Given the description of an element on the screen output the (x, y) to click on. 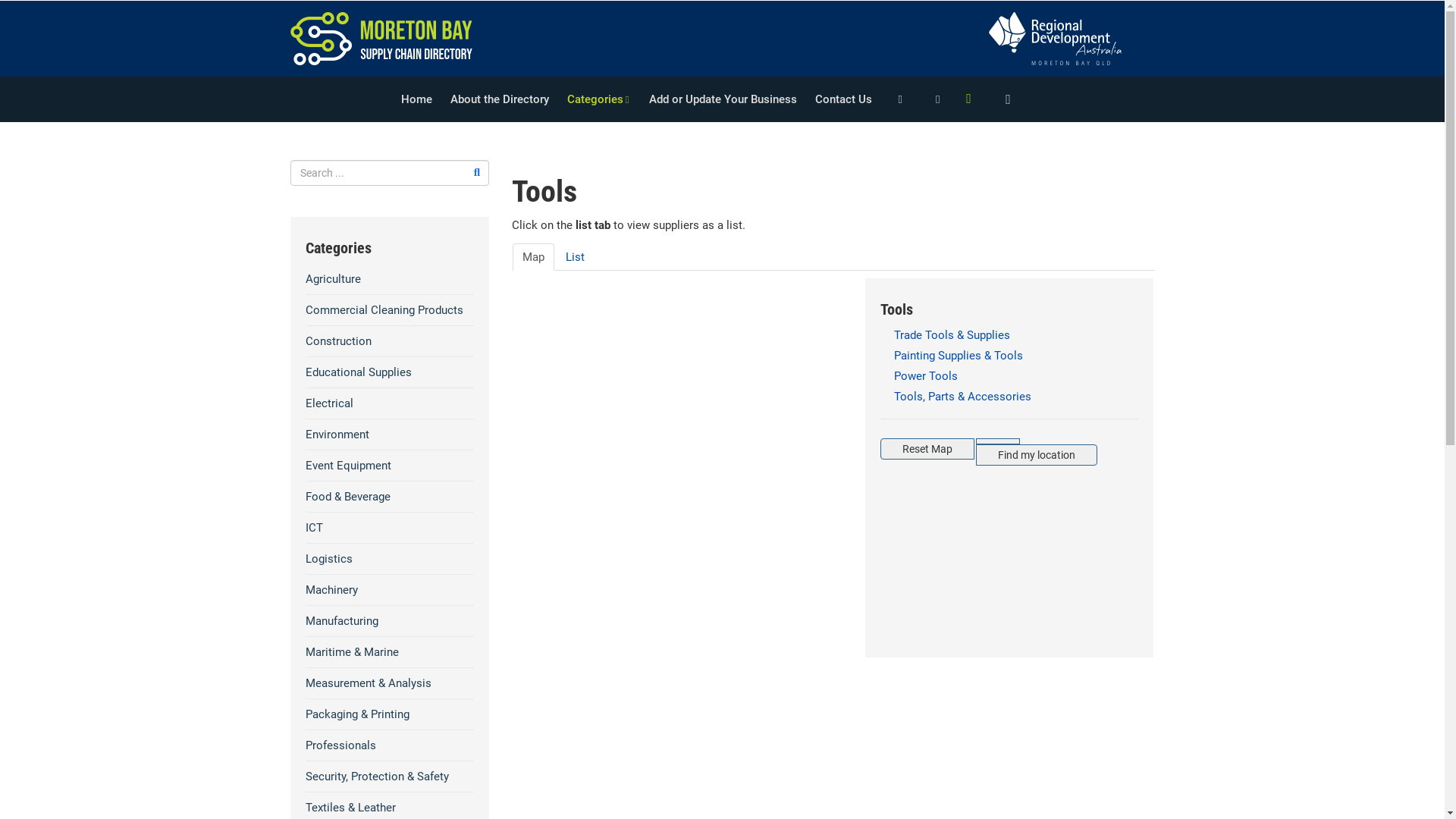
Commercial Cleaning Products Element type: text (388, 309)
Food & Beverage Element type: text (388, 496)
Machinery Element type: text (388, 589)
Packaging & Printing Element type: text (388, 714)
Educational Supplies Element type: text (388, 372)
Find my location Element type: text (1036, 454)
Menu Element type: hover (968, 98)
Construction Element type: text (388, 341)
Event Equipment Element type: text (388, 465)
Logistics Element type: text (388, 558)
Contact Us Element type: text (843, 99)
Security, Protection & Safety Element type: text (388, 776)
Reset Map Element type: text (927, 448)
Environment Element type: text (388, 434)
ICT Element type: text (388, 527)
Painting Supplies & Tools Element type: text (1009, 355)
Power Tools Element type: text (1009, 376)
Agriculture Element type: text (388, 278)
Map Element type: text (533, 256)
Categories Element type: text (599, 99)
Electrical Element type: text (388, 403)
Measurement & Analysis Element type: text (388, 683)
Add or Update Your Business Element type: text (723, 99)
Home Element type: text (416, 99)
About the Directory Element type: text (499, 99)
List Element type: text (574, 256)
Trade Tools & Supplies Element type: text (1009, 335)
Professionals Element type: text (388, 745)
Tools, Parts & Accessories Element type: text (1009, 396)
Manufacturing Element type: text (388, 620)
Maritime & Marine Element type: text (388, 652)
